Given the description of an element on the screen output the (x, y) to click on. 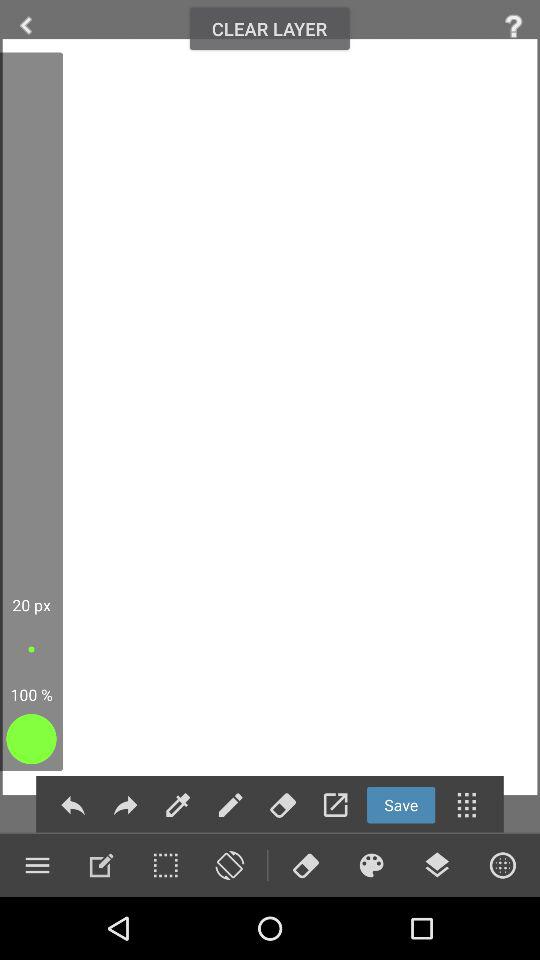
go to ride (26, 26)
